Given the description of an element on the screen output the (x, y) to click on. 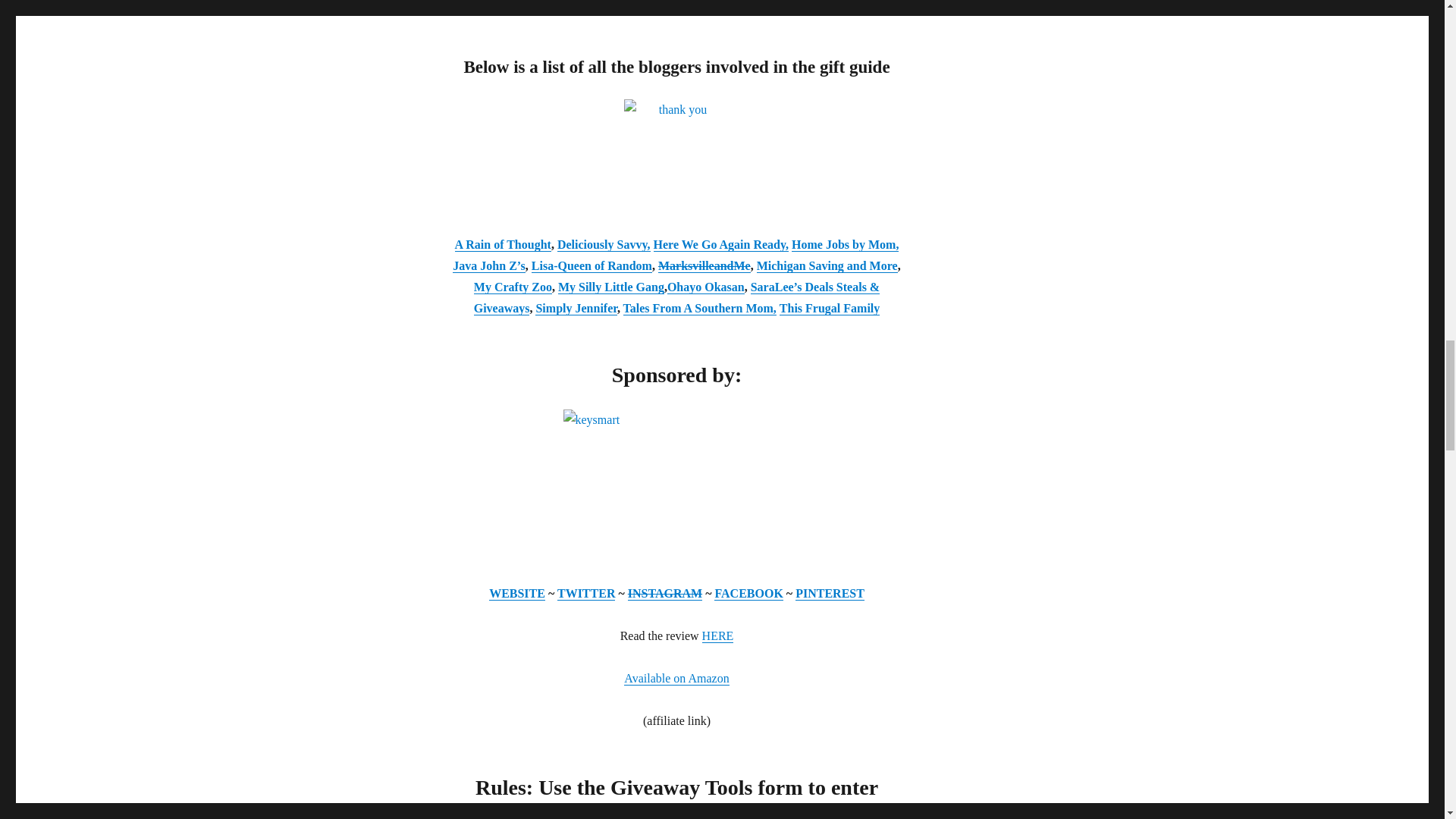
My Crafty Zoo (512, 286)
Home Jobs by Mom, (845, 244)
This Frugal Family (828, 308)
A Rain of Thought (502, 244)
TWITTER (585, 593)
Simply Jennifer (575, 308)
MarksvilleandMe (704, 265)
Here We Go Again Ready, (721, 244)
My Silly Little Gang (610, 286)
Deliciously Savvy, (603, 244)
